Given the description of an element on the screen output the (x, y) to click on. 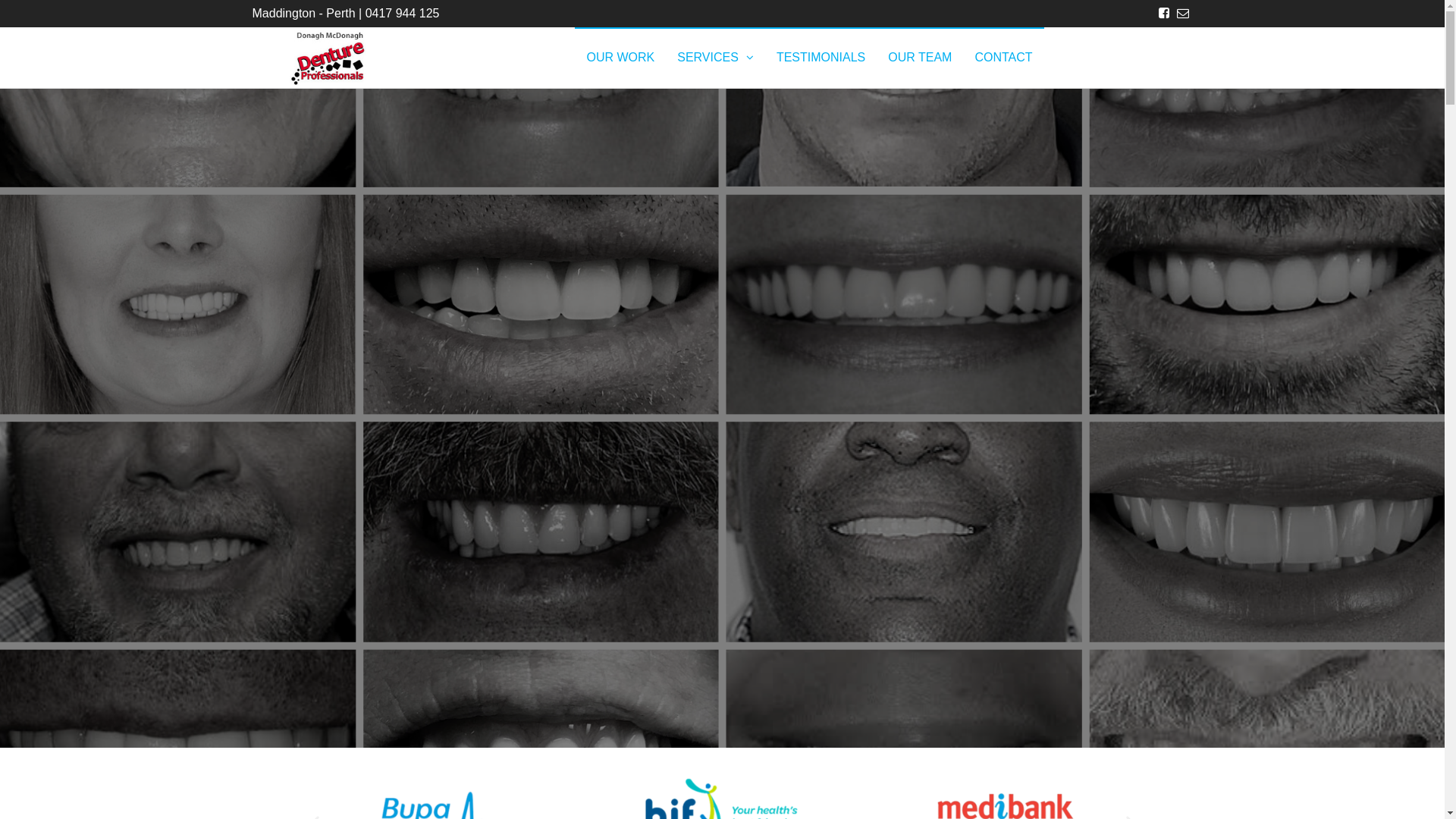
CONTACT Element type: text (1003, 57)
Denture Professionals Element type: text (482, 85)
OUR WORK Element type: text (619, 57)
SERVICES Element type: text (715, 57)
OUR TEAM Element type: text (919, 57)
TESTIMONIALS Element type: text (820, 57)
